Given the description of an element on the screen output the (x, y) to click on. 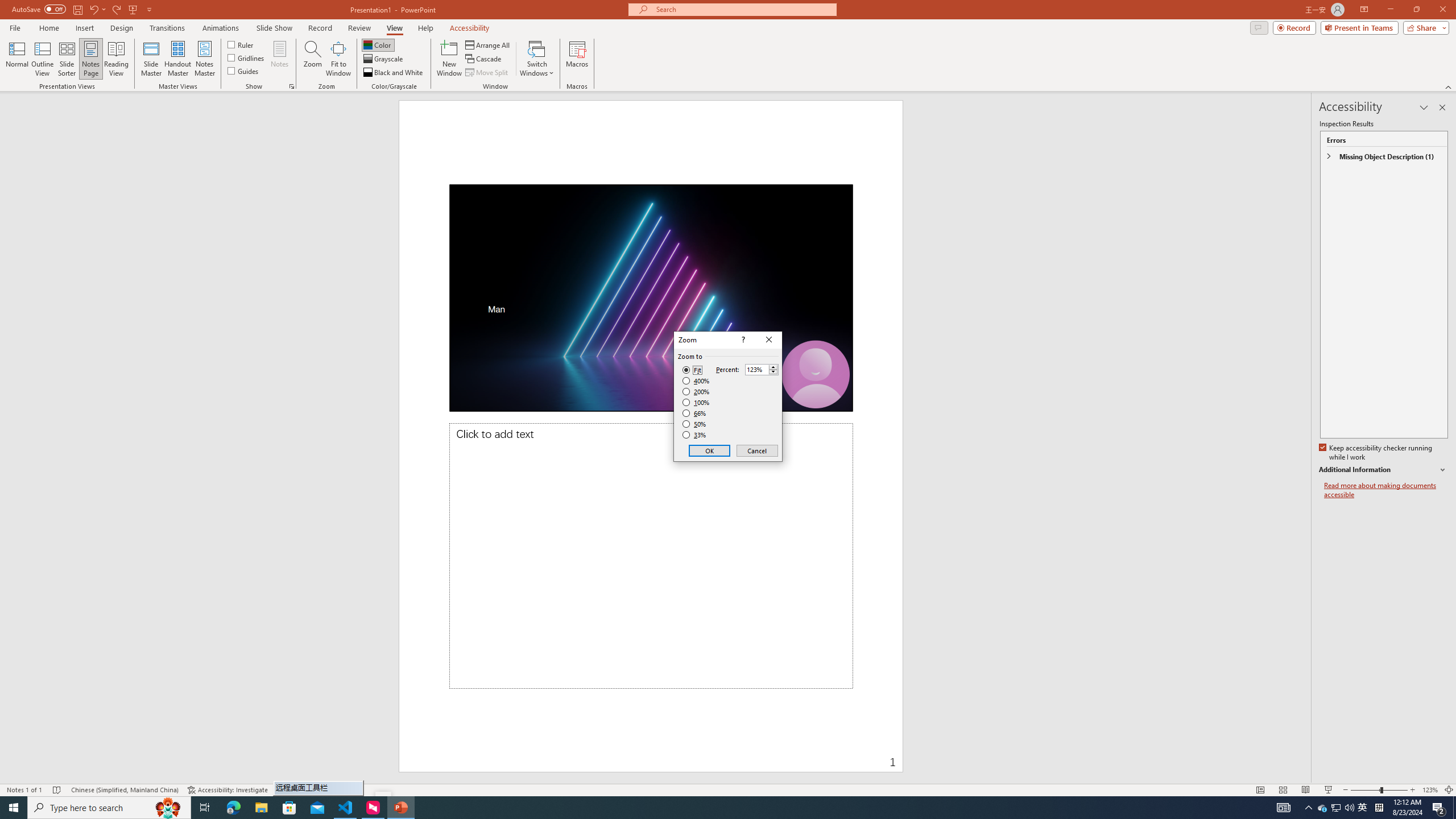
Ruler (241, 44)
Move Split (487, 72)
Cascade (484, 58)
Guides (243, 69)
400% (696, 380)
